Given the description of an element on the screen output the (x, y) to click on. 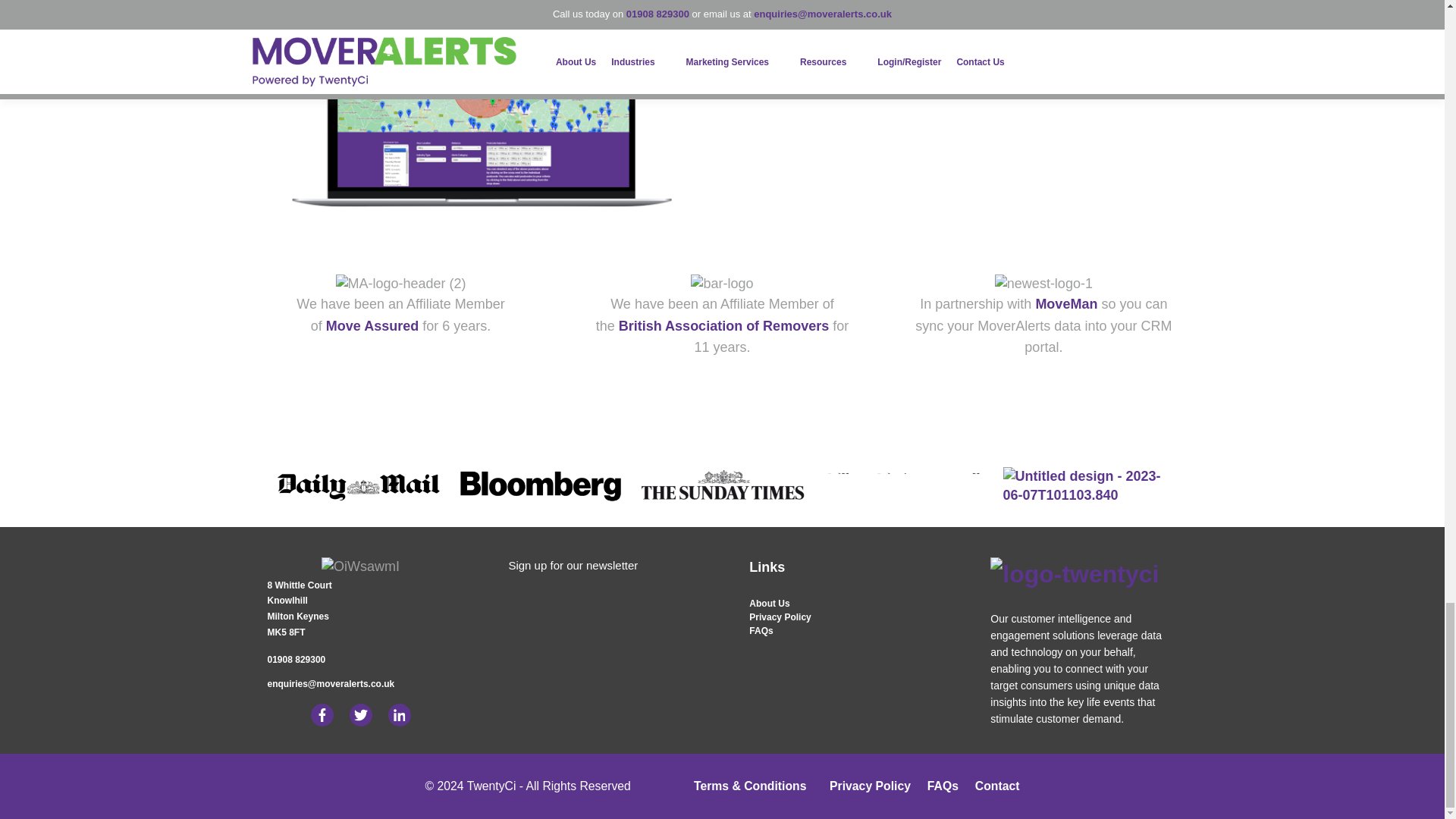
bar-logo (721, 283)
MoveMan (1066, 304)
OiWsawmI (359, 566)
MA App Mock-Up (480, 104)
01908 829300 (295, 659)
newest-logo-1 (1043, 283)
Move Assured (372, 325)
British Association of Removers (723, 325)
